Given the description of an element on the screen output the (x, y) to click on. 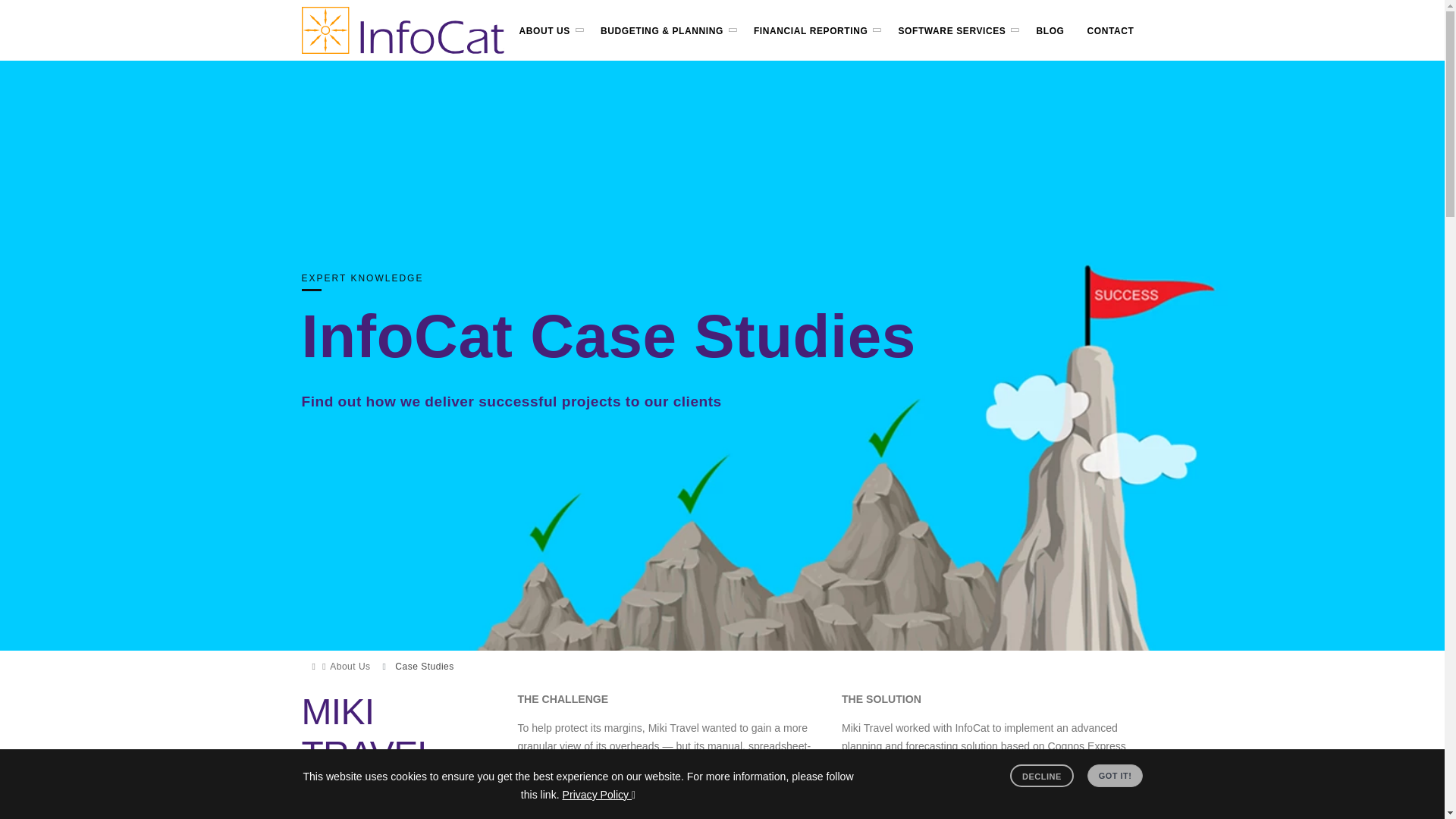
Cognos TM1 (852, 764)
FINANCIAL REPORTING (810, 31)
About Us (349, 665)
CONTACT (1110, 31)
Case Studies (423, 665)
Case Studies (423, 665)
BLOG (1049, 31)
ABOUT US (543, 31)
About Us (349, 665)
TM1 (852, 764)
SOFTWARE SERVICES (951, 31)
